Given the description of an element on the screen output the (x, y) to click on. 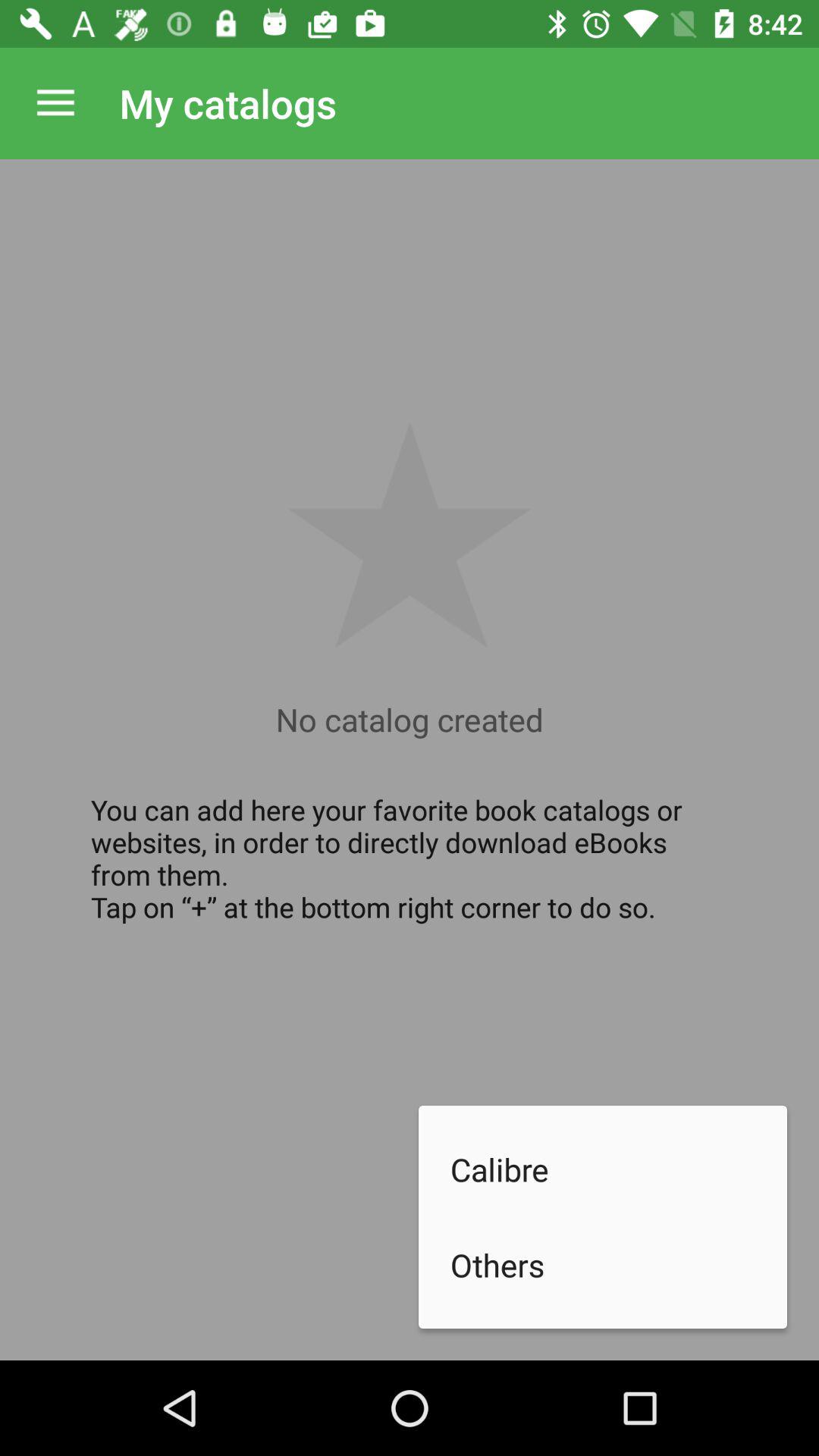
tap item next to the my catalogs (55, 103)
